Given the description of an element on the screen output the (x, y) to click on. 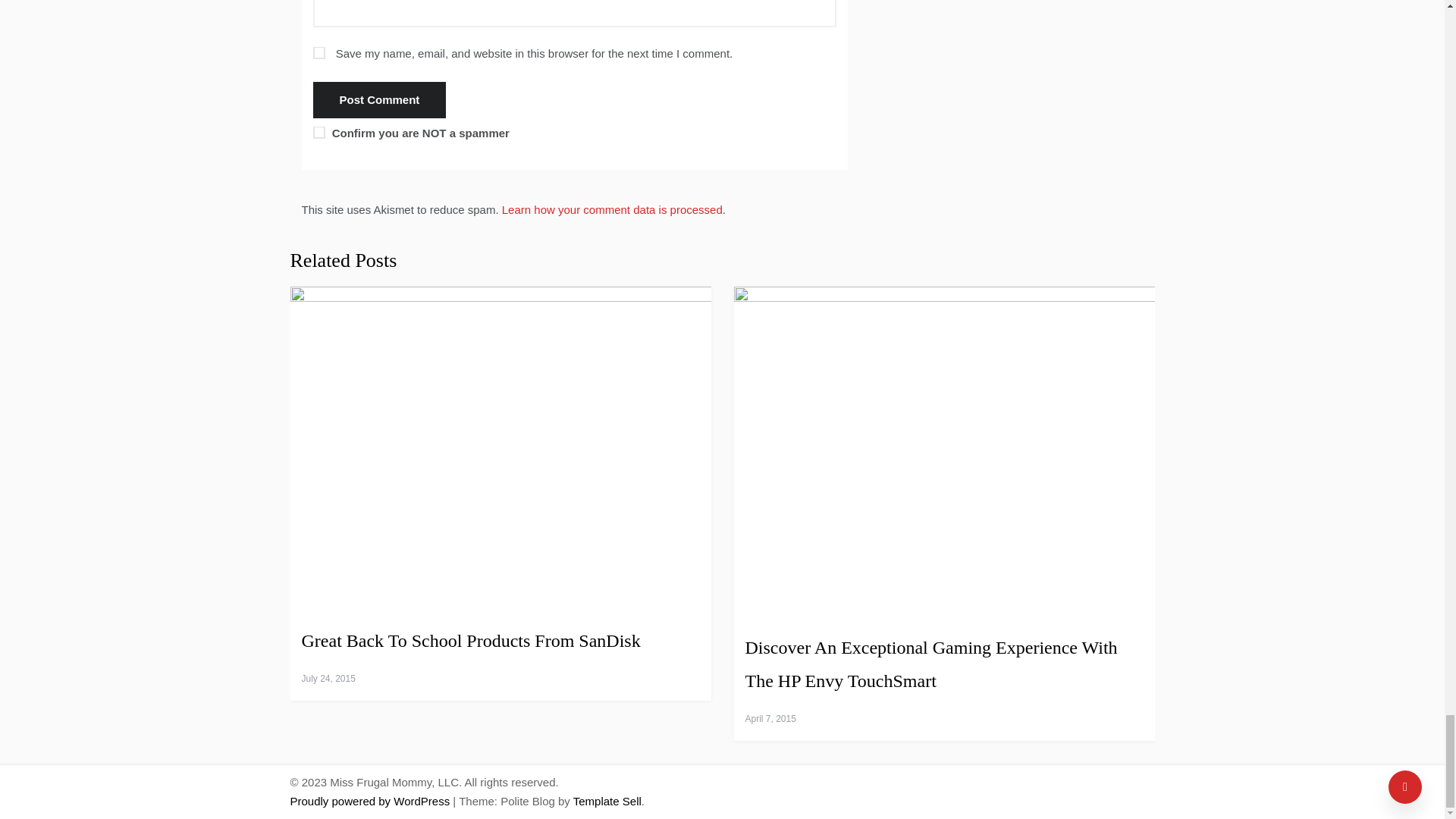
yes (318, 52)
Post Comment (379, 99)
on (318, 132)
